Given the description of an element on the screen output the (x, y) to click on. 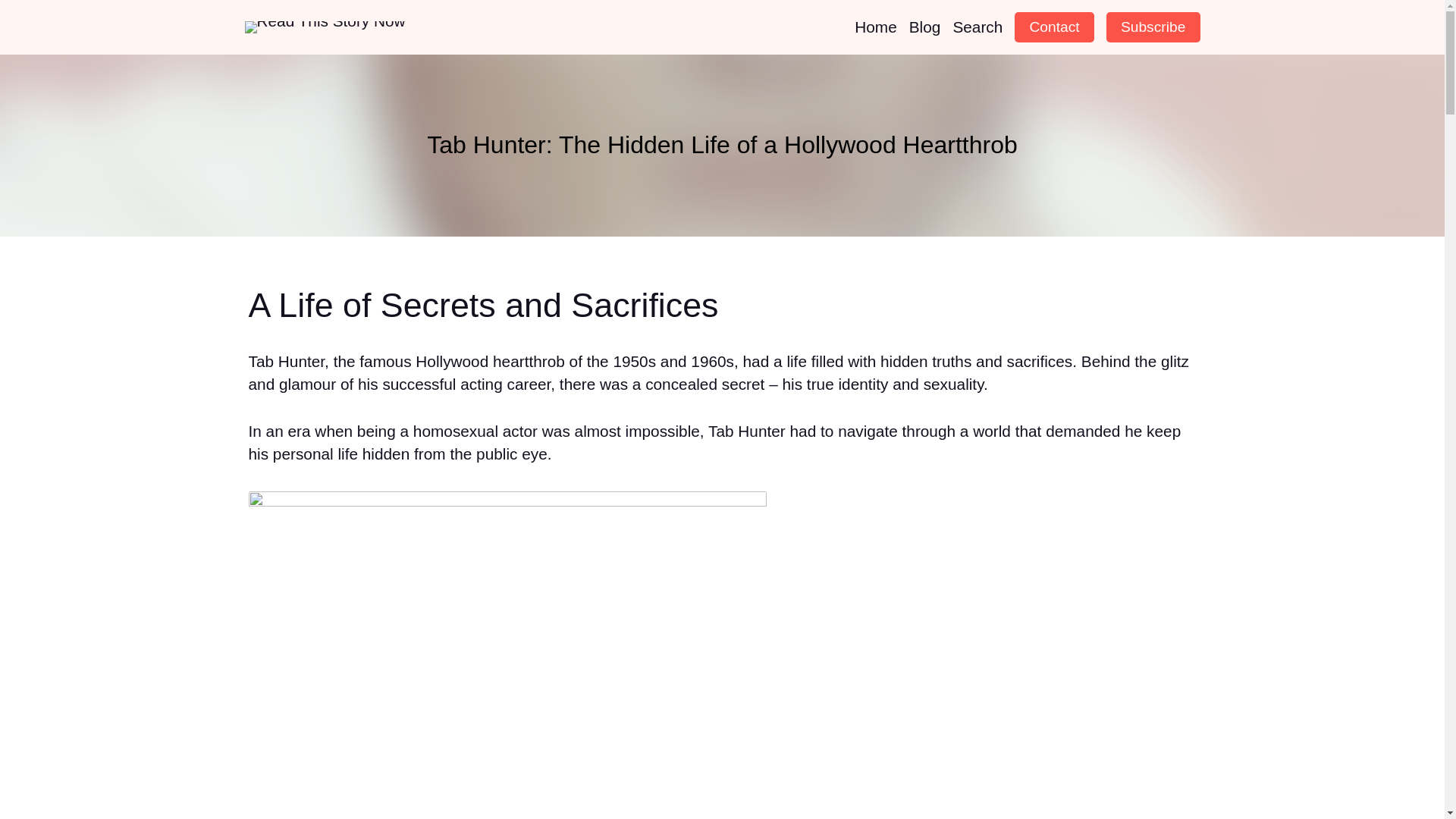
Contact (1054, 27)
Subscribe (1152, 27)
Home (875, 26)
Search (977, 26)
Blog (924, 26)
